Given the description of an element on the screen output the (x, y) to click on. 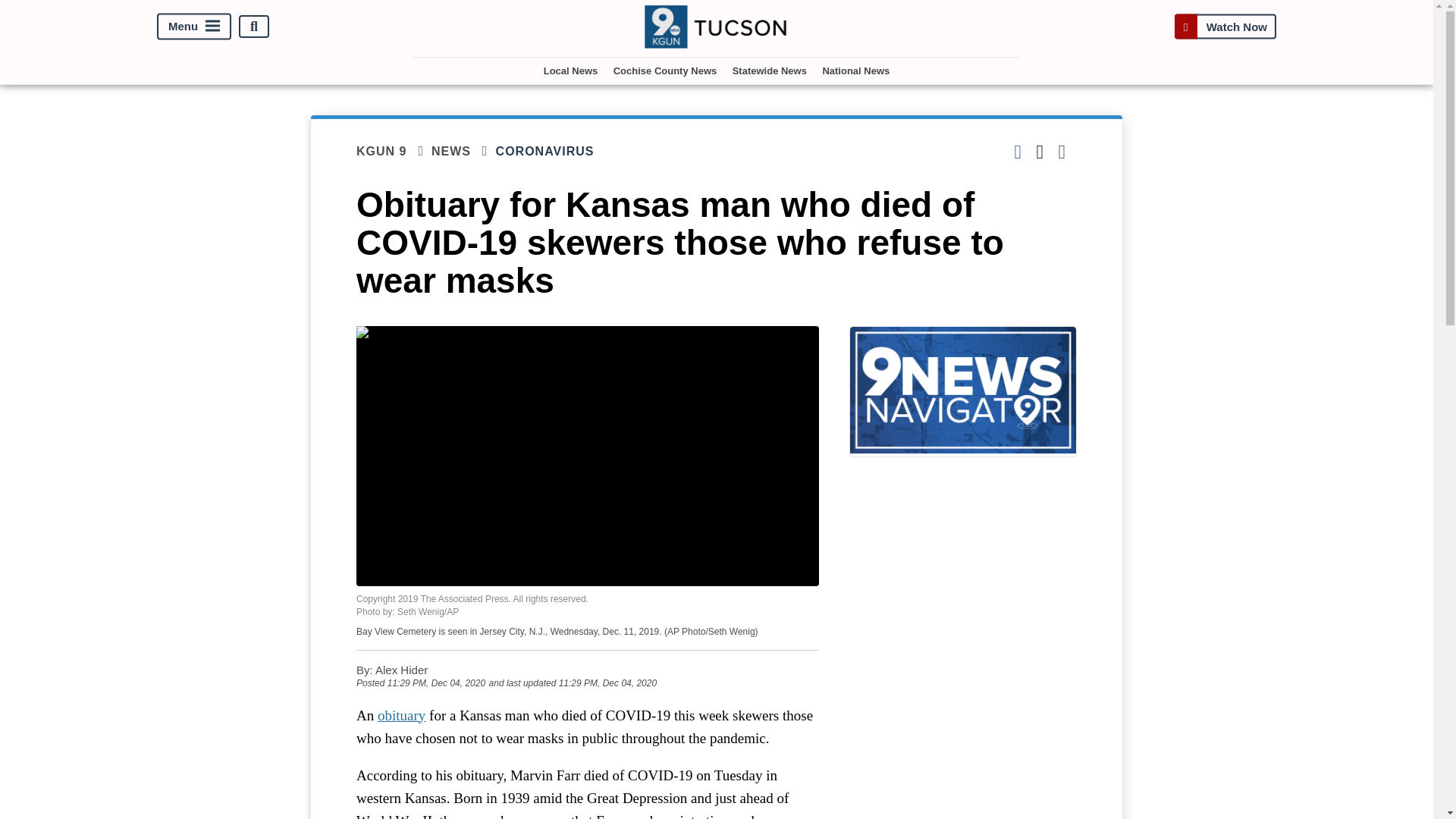
Menu (194, 26)
Watch Now (1224, 26)
